Given the description of an element on the screen output the (x, y) to click on. 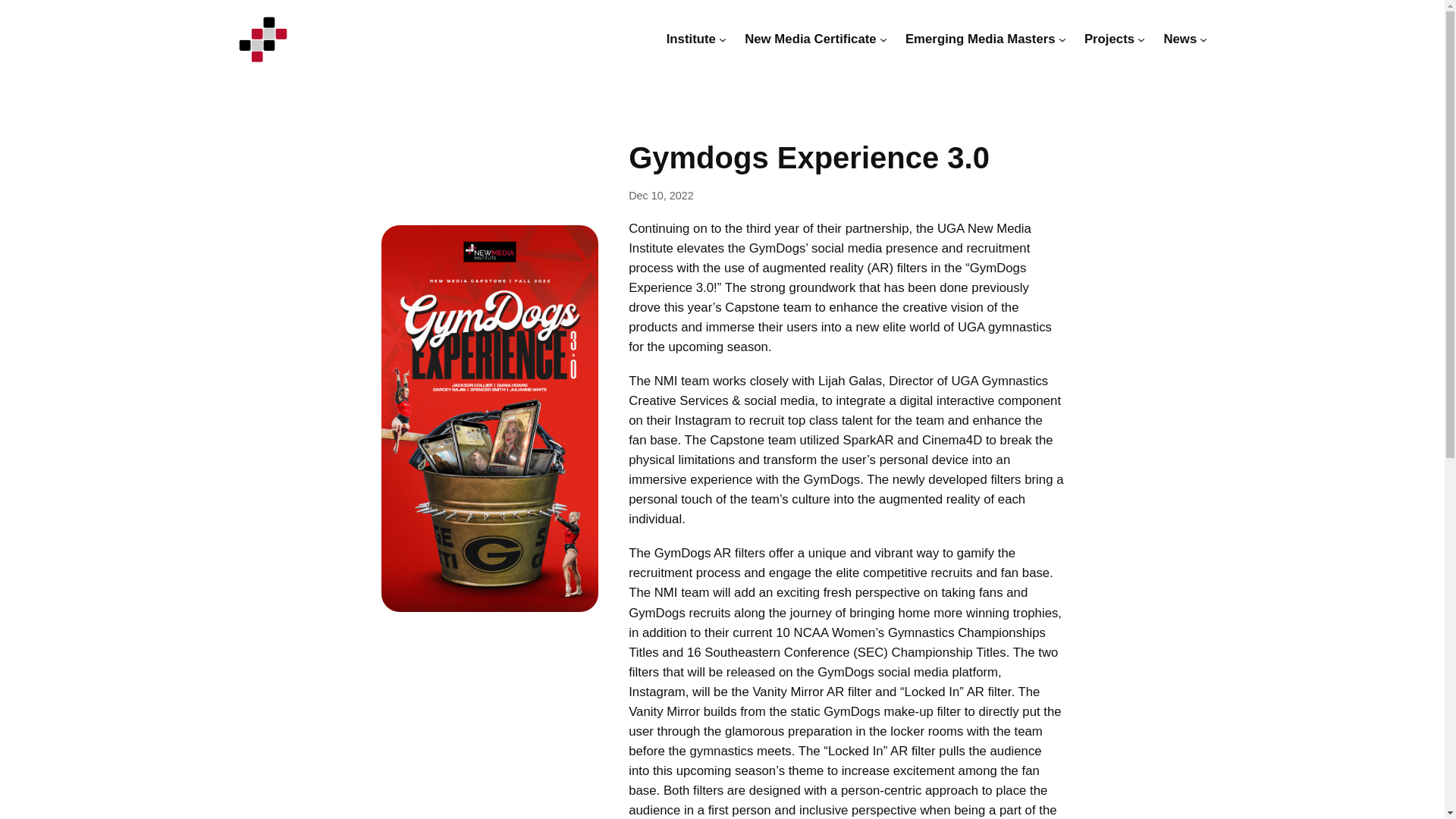
Emerging Media Masters (980, 39)
Dec 10, 2022 (661, 195)
News (1179, 39)
Projects (1109, 39)
Institute (691, 39)
New Media Certificate (810, 39)
